Given the description of an element on the screen output the (x, y) to click on. 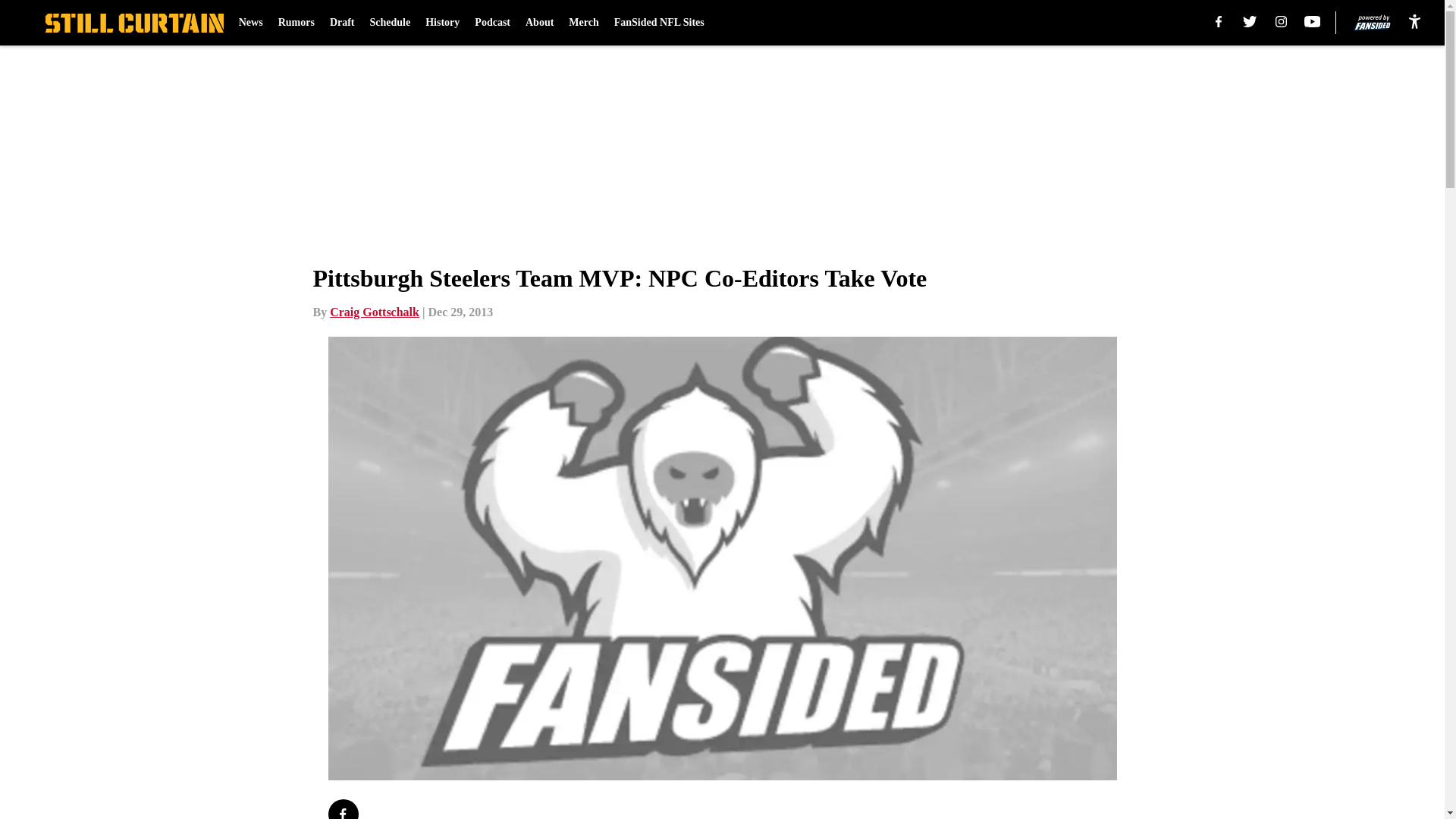
About (539, 22)
News (250, 22)
Craig Gottschalk (374, 311)
FanSided NFL Sites (659, 22)
Merch (583, 22)
Podcast (492, 22)
History (442, 22)
Draft (342, 22)
Schedule (389, 22)
Rumors (296, 22)
